Given the description of an element on the screen output the (x, y) to click on. 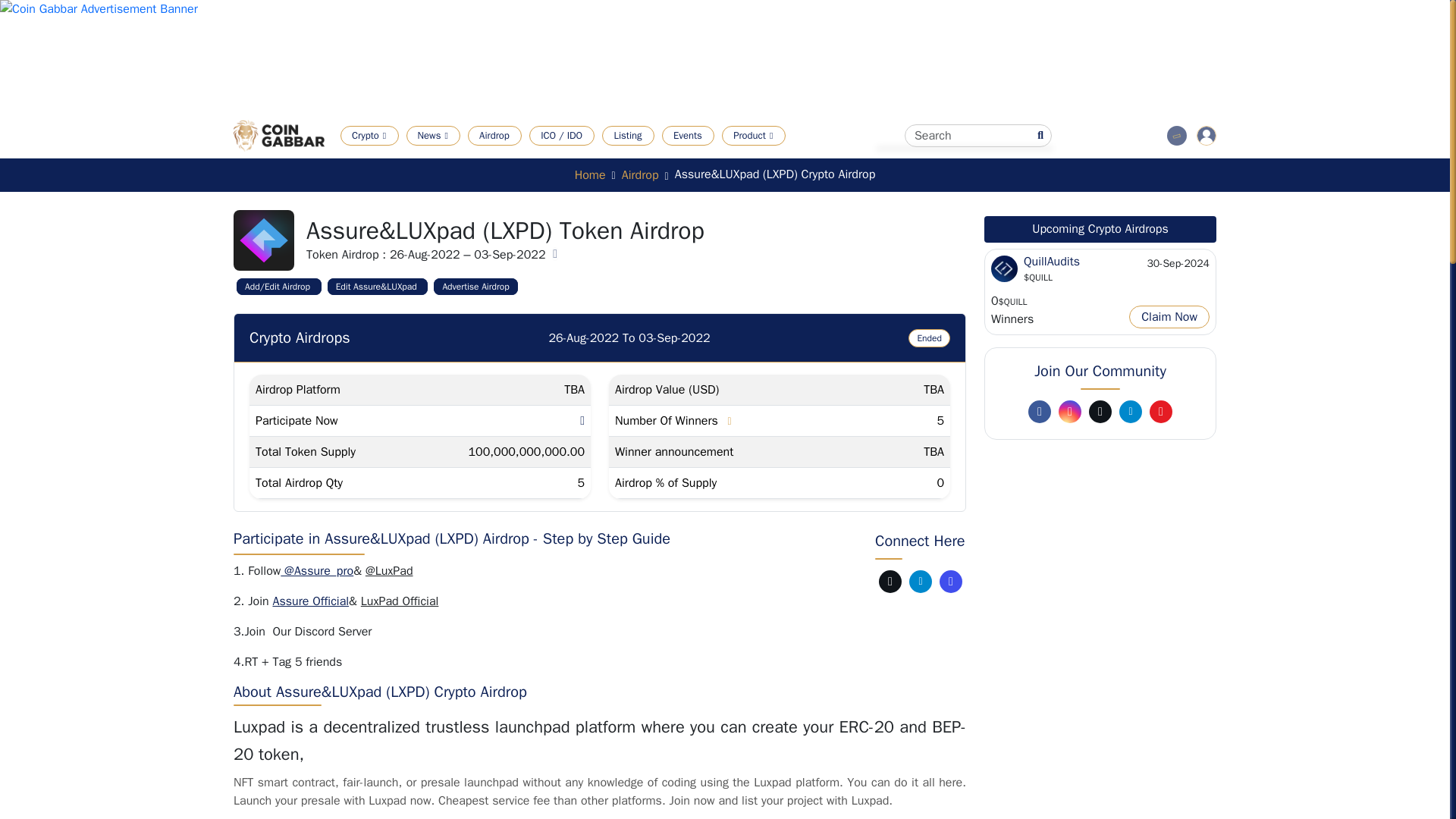
All News (462, 156)
Cryptocurrency (405, 156)
Top Gainers (519, 156)
Bitcoin (686, 156)
All Blogs (579, 156)
